Given the description of an element on the screen output the (x, y) to click on. 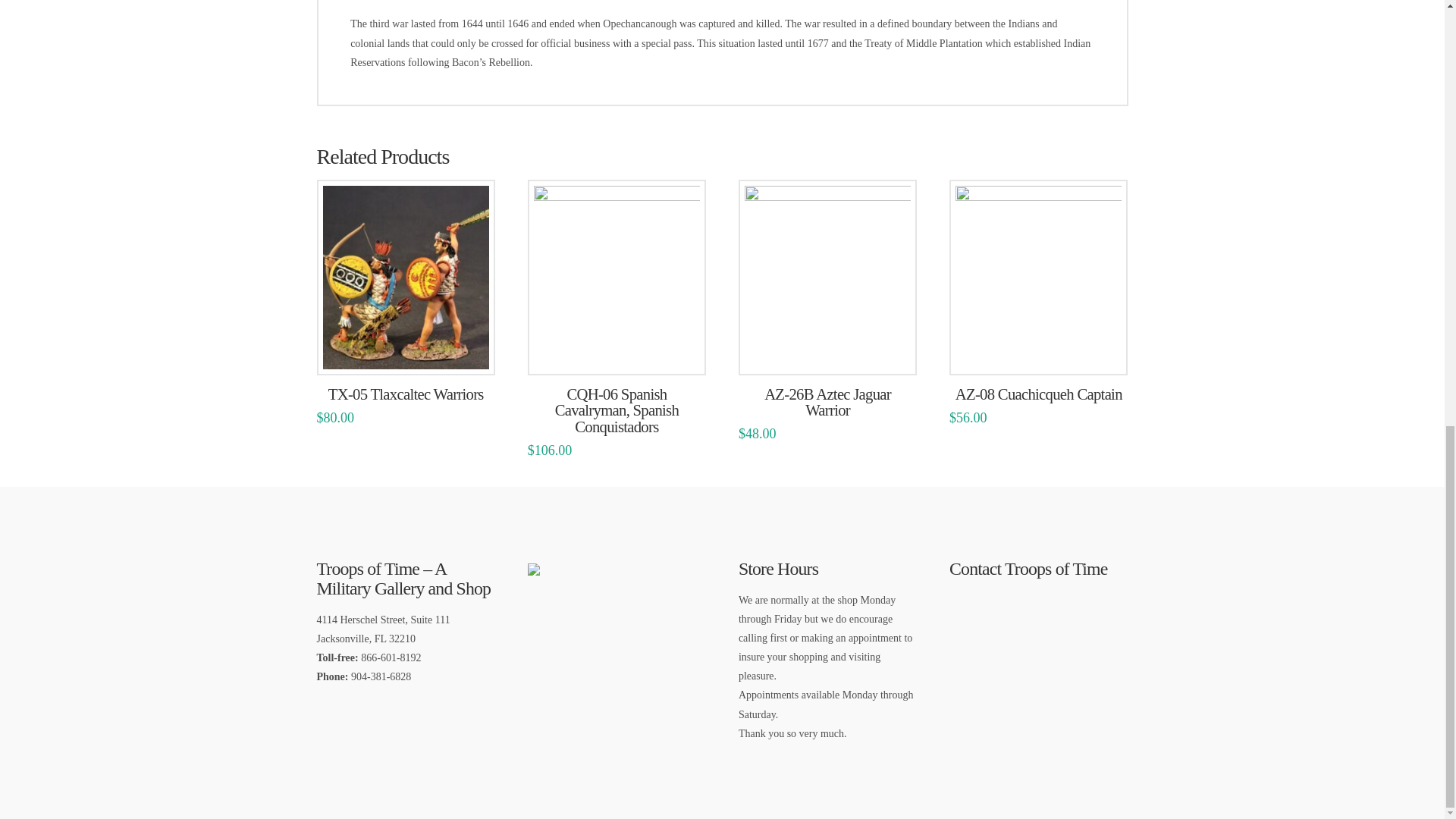
CQH-06 Spanish Cavalryman, Spanish Conquistadors (616, 410)
AZ-08 Cuachicqueh Captain (1038, 393)
TX-05 Tlaxcaltec Warriors (406, 393)
AZ-26B Aztec Jaguar Warrior (827, 402)
